Given the description of an element on the screen output the (x, y) to click on. 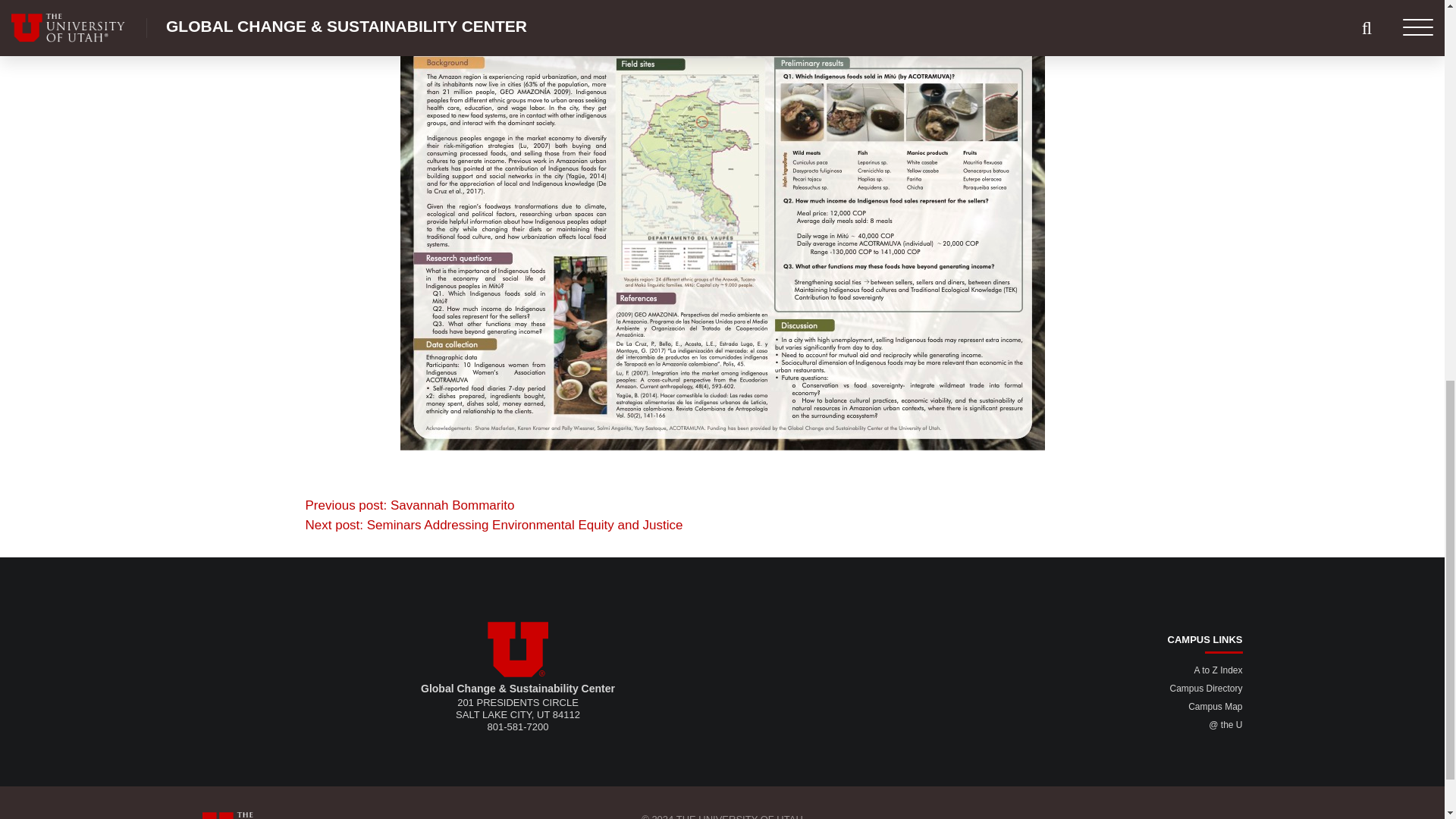
Previous post: Savannah Bommarito (408, 504)
University of Utah (517, 649)
A to Z Index (1217, 670)
Campus Map (1214, 706)
Campus Directory (1205, 688)
